Given the description of an element on the screen output the (x, y) to click on. 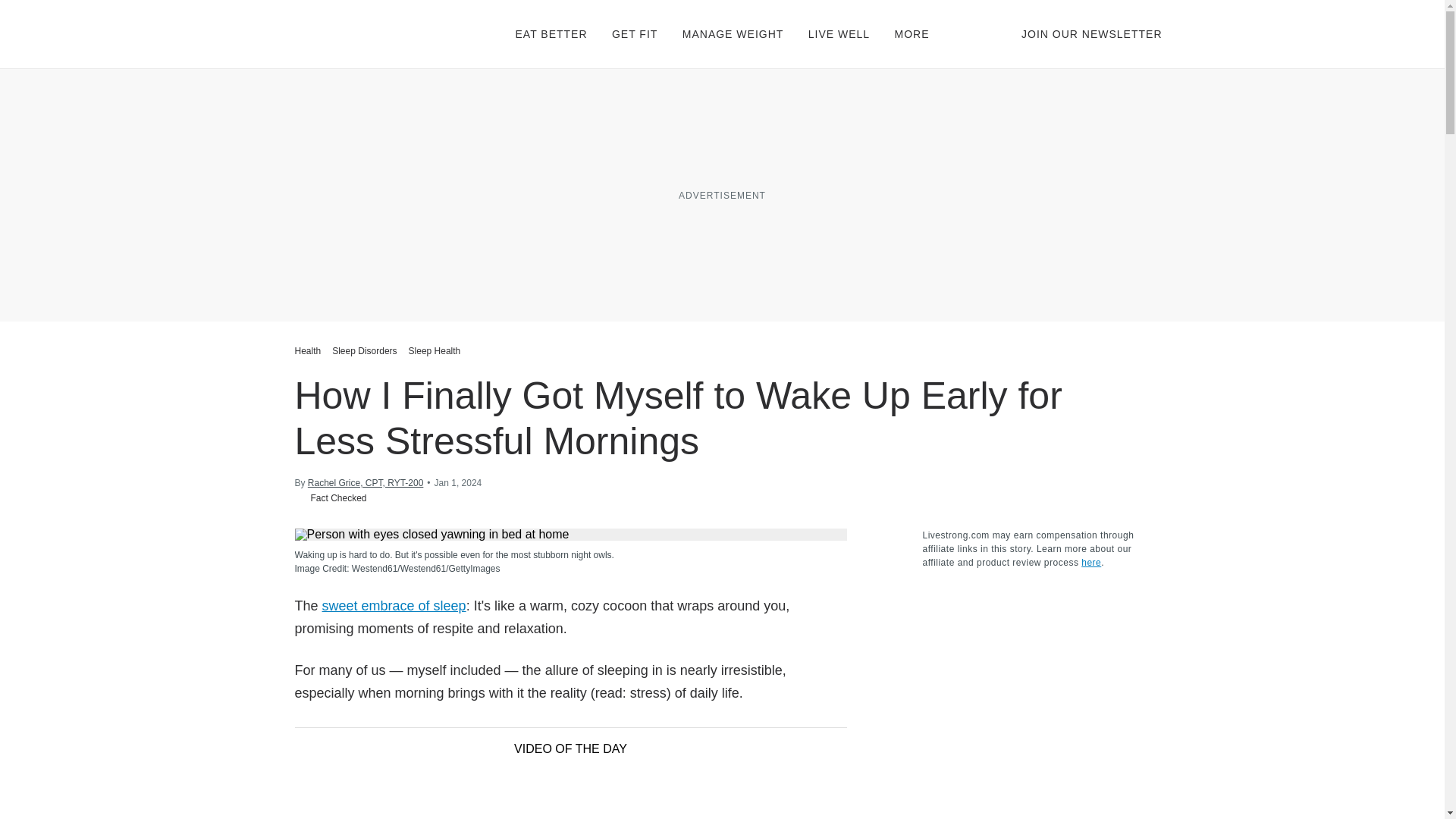
Rachel Grice, CPT, RYT-200 (365, 482)
EAT BETTER (551, 33)
LIVE WELL (838, 33)
Health (309, 350)
Fact Checked (330, 498)
Sleep Health (434, 350)
MANAGE WEIGHT (733, 33)
sweet embrace of sleep (393, 605)
Learn more about our affiliate and product review process (1090, 562)
Sleep Disorders (364, 350)
